Given the description of an element on the screen output the (x, y) to click on. 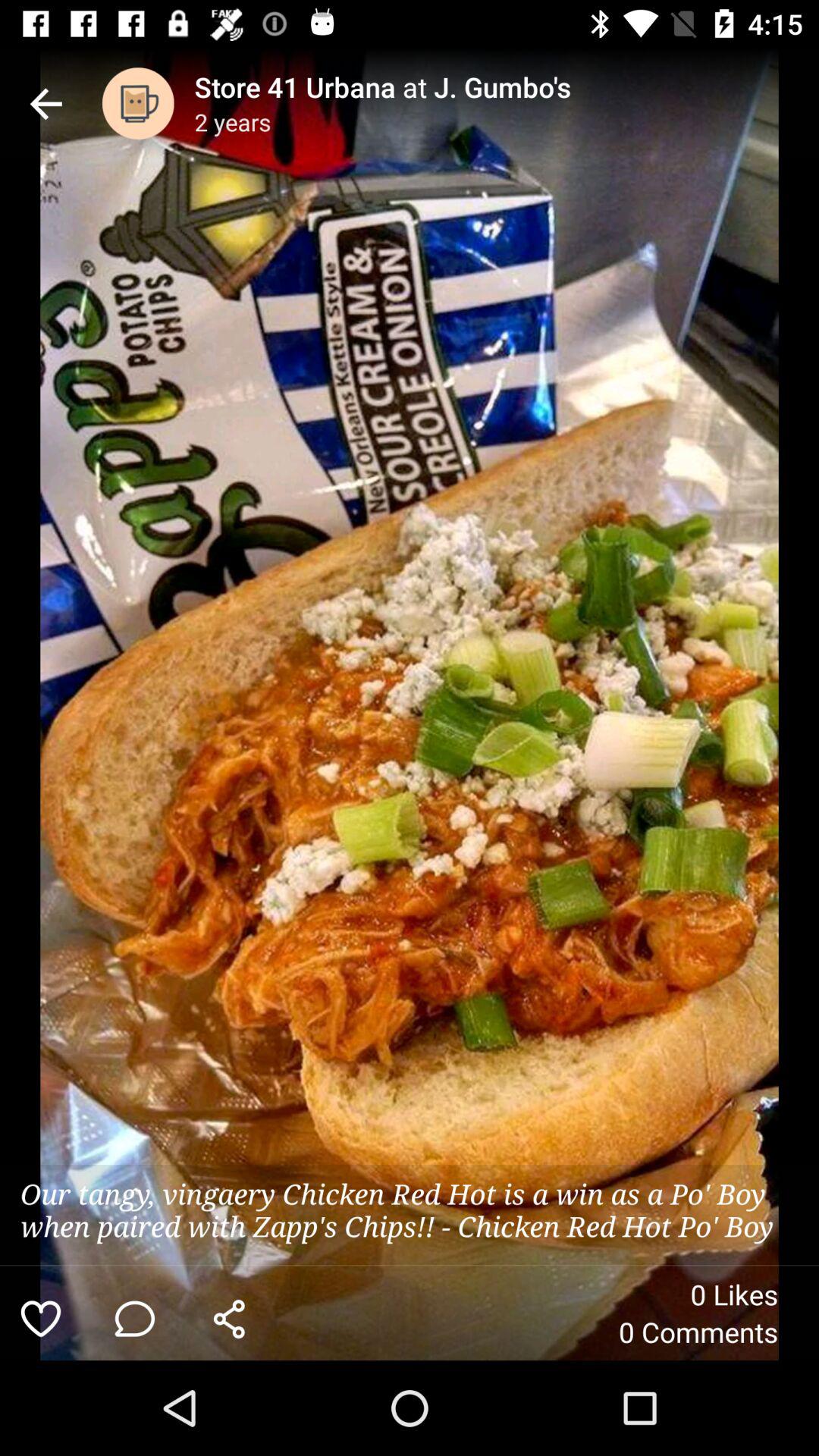
turn off the item next to 0 comments (229, 1317)
